Given the description of an element on the screen output the (x, y) to click on. 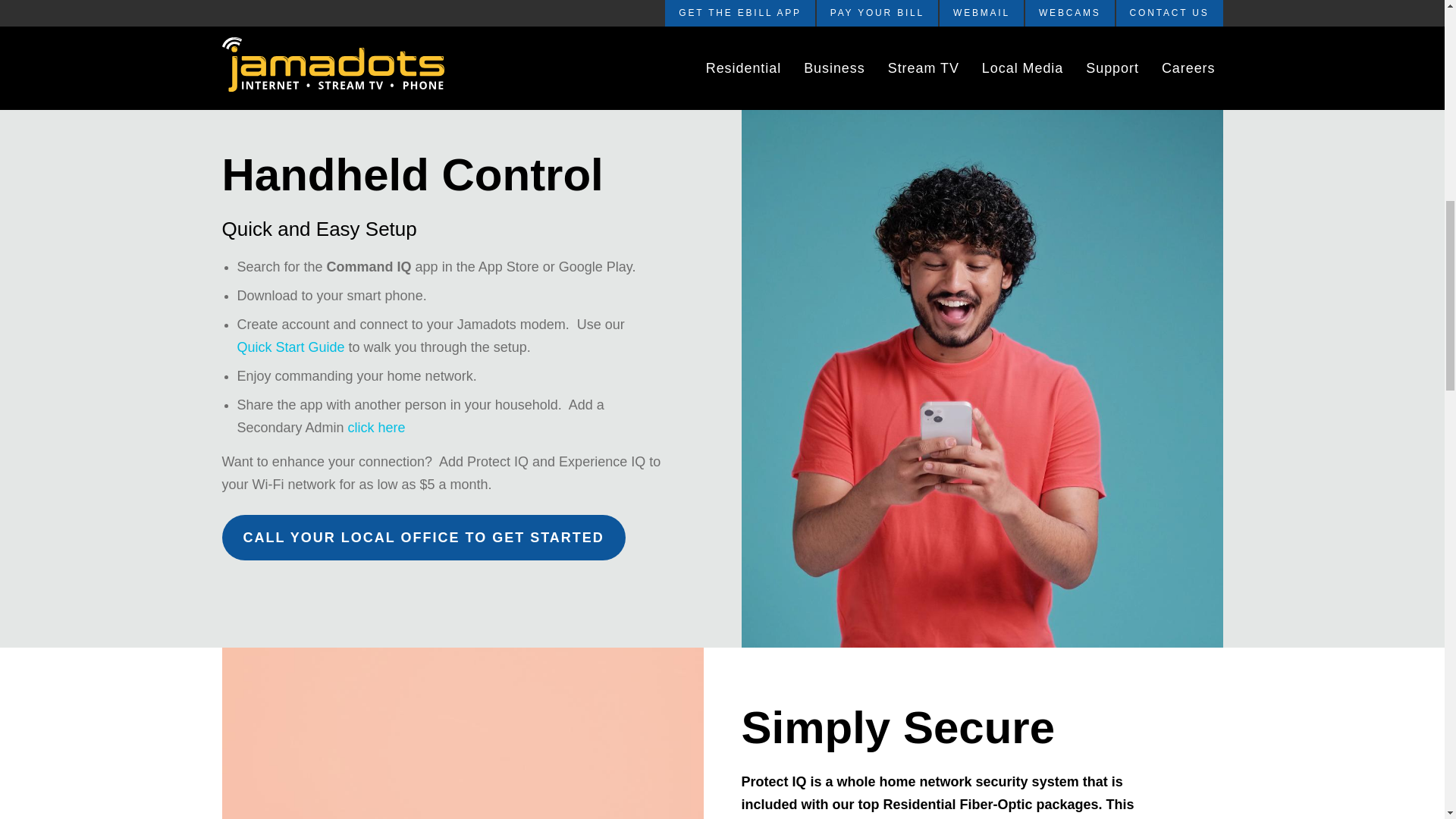
Quick Start Guide (289, 346)
SecondaryAdmin (376, 427)
